Given the description of an element on the screen output the (x, y) to click on. 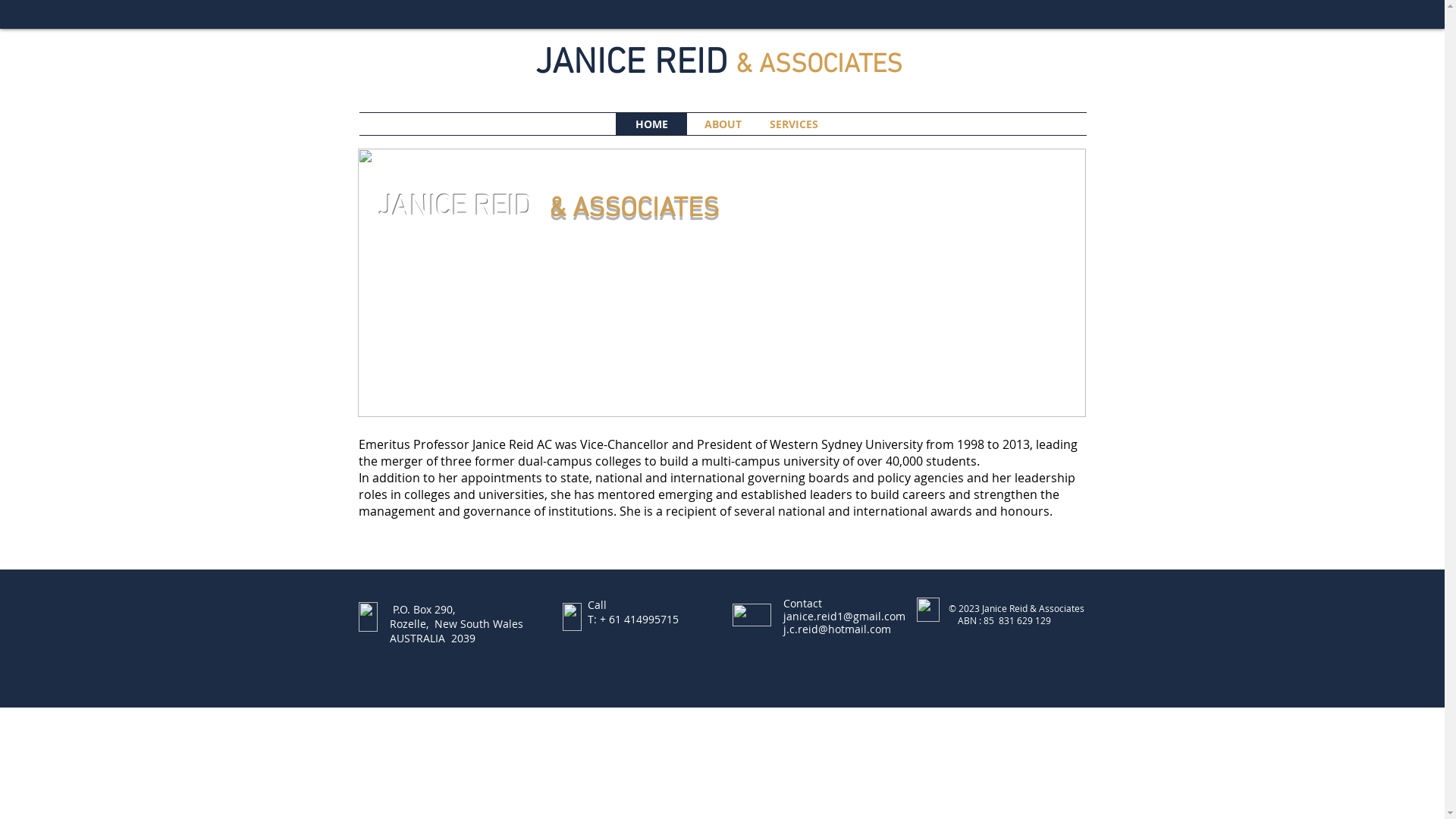
HOME Element type: text (651, 123)
janice.reid1@gmail.com Element type: text (843, 615)
SERVICES Element type: text (793, 123)
ABOUT Element type: text (722, 123)
j.c.reid@hotmail.com Element type: text (836, 628)
